Given the description of an element on the screen output the (x, y) to click on. 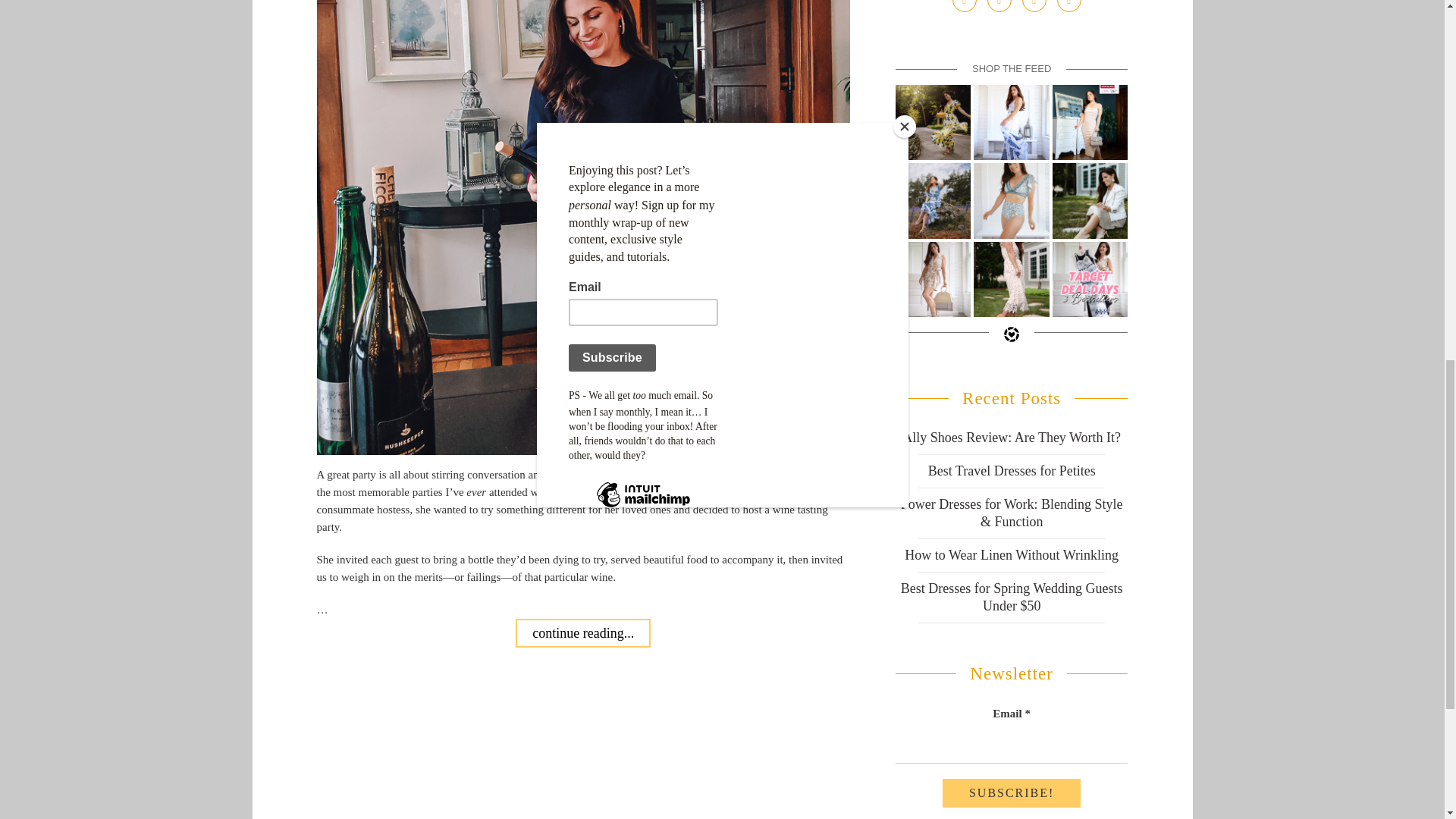
continue reading... (582, 633)
Subscribe! (1011, 792)
